Given the description of an element on the screen output the (x, y) to click on. 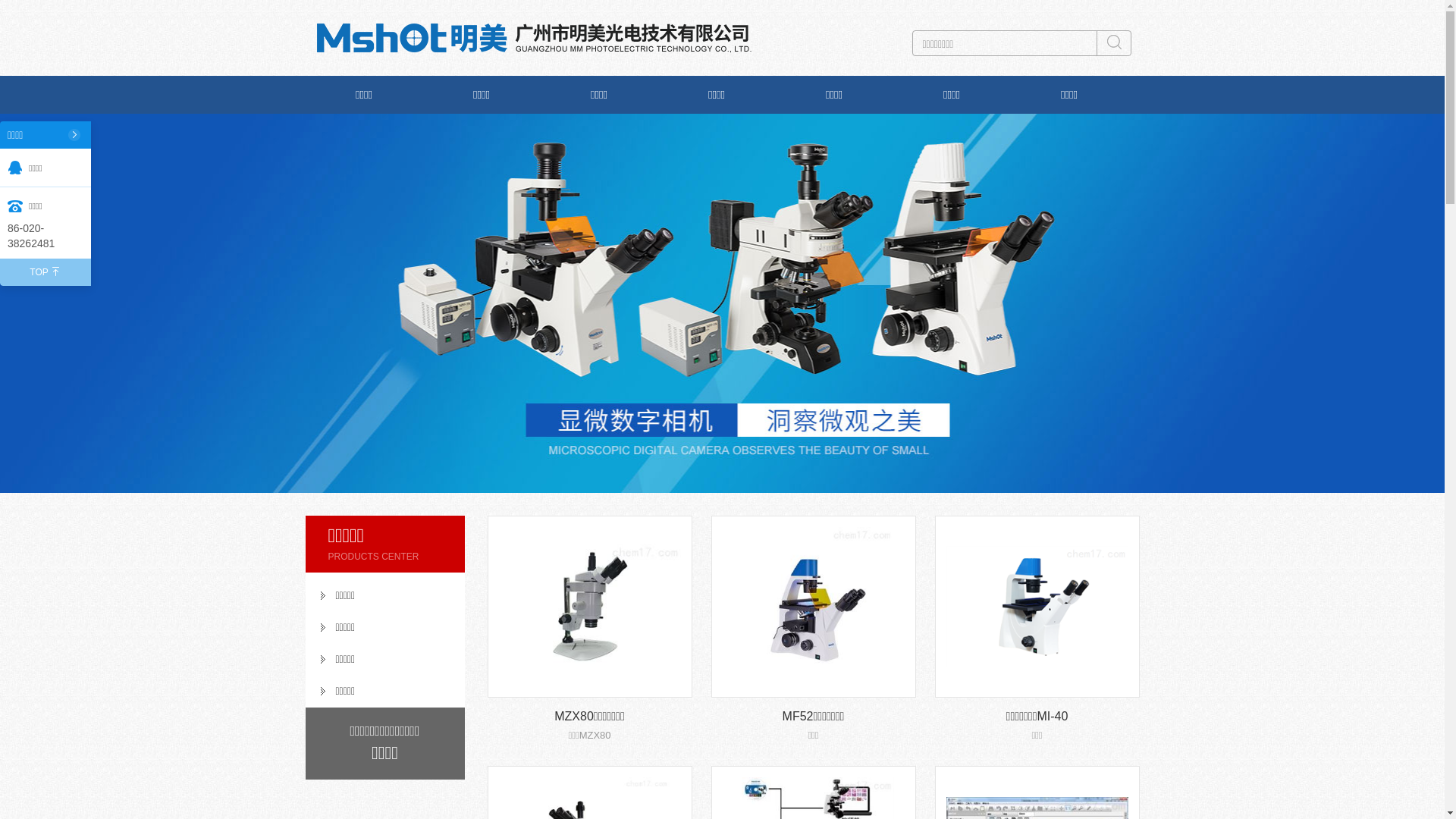
TOP Element type: text (45, 271)
86-020-38262481 Element type: text (45, 235)
